Given the description of an element on the screen output the (x, y) to click on. 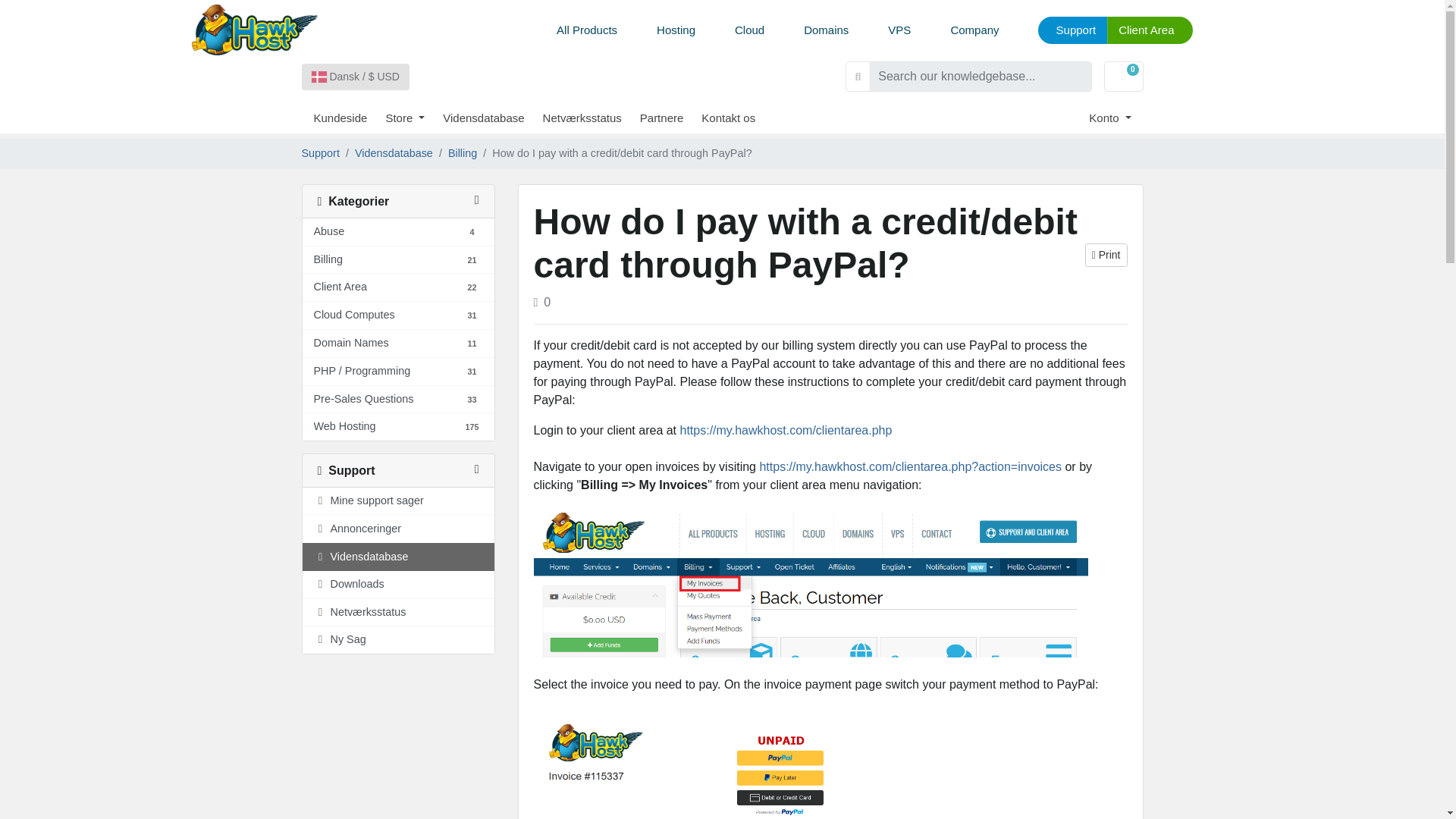
Go to Hawk Host Home (253, 29)
Company (974, 30)
Cloud (749, 30)
Pre-Sales Questions (363, 399)
Client Area (1149, 30)
Billing (328, 259)
VPS (899, 30)
Hosting (675, 30)
Client Area (1122, 76)
Domain Names (340, 287)
Store (351, 343)
Abuse (413, 117)
Web Hosting (329, 231)
Domains (344, 426)
